Given the description of an element on the screen output the (x, y) to click on. 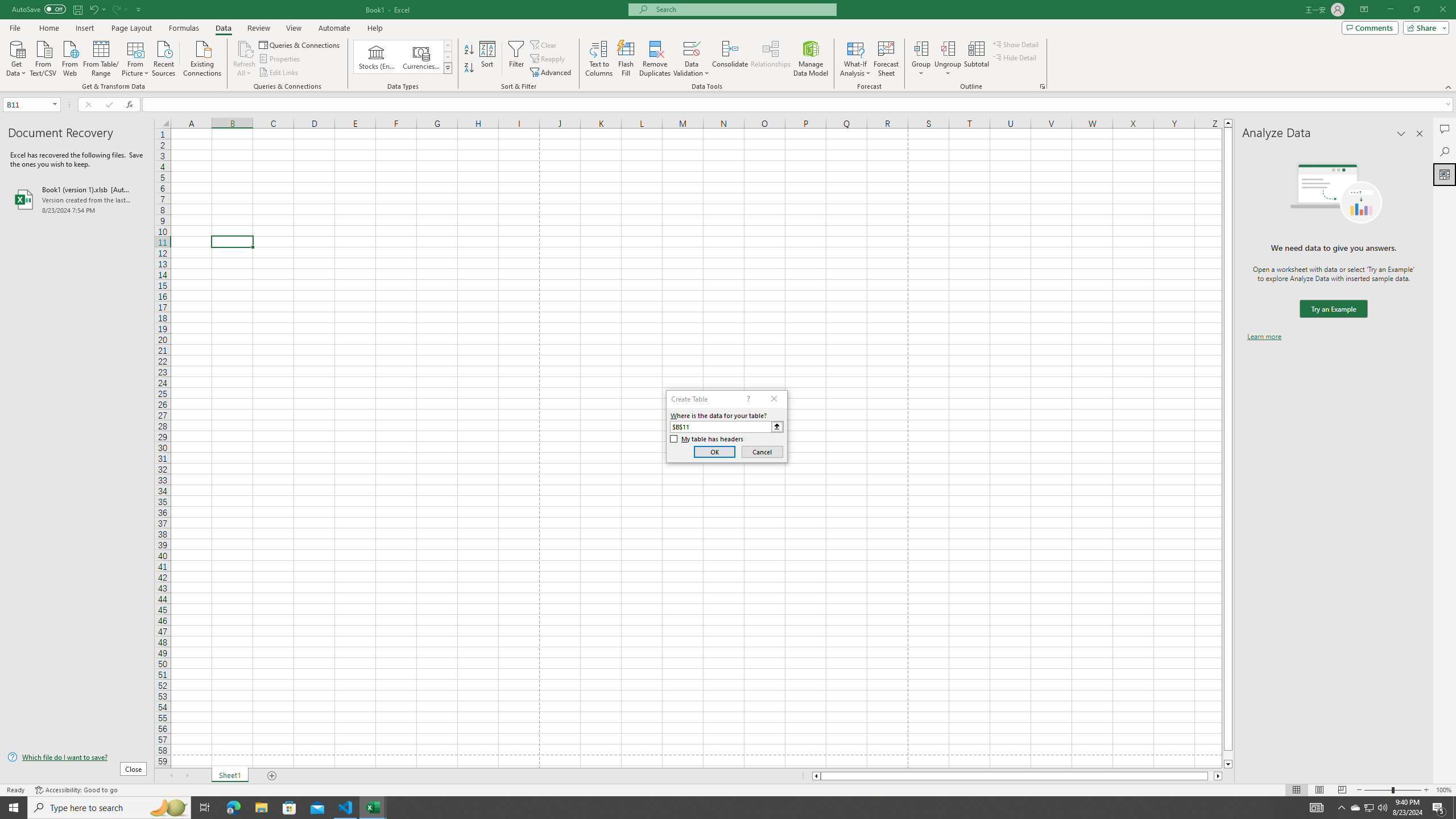
Consolidate... (729, 58)
Remove Duplicates (654, 58)
Manage Data Model (810, 58)
Forecast Sheet (885, 58)
Properties (280, 58)
Recent Sources (163, 57)
Analyze Data (1444, 173)
